Given the description of an element on the screen output the (x, y) to click on. 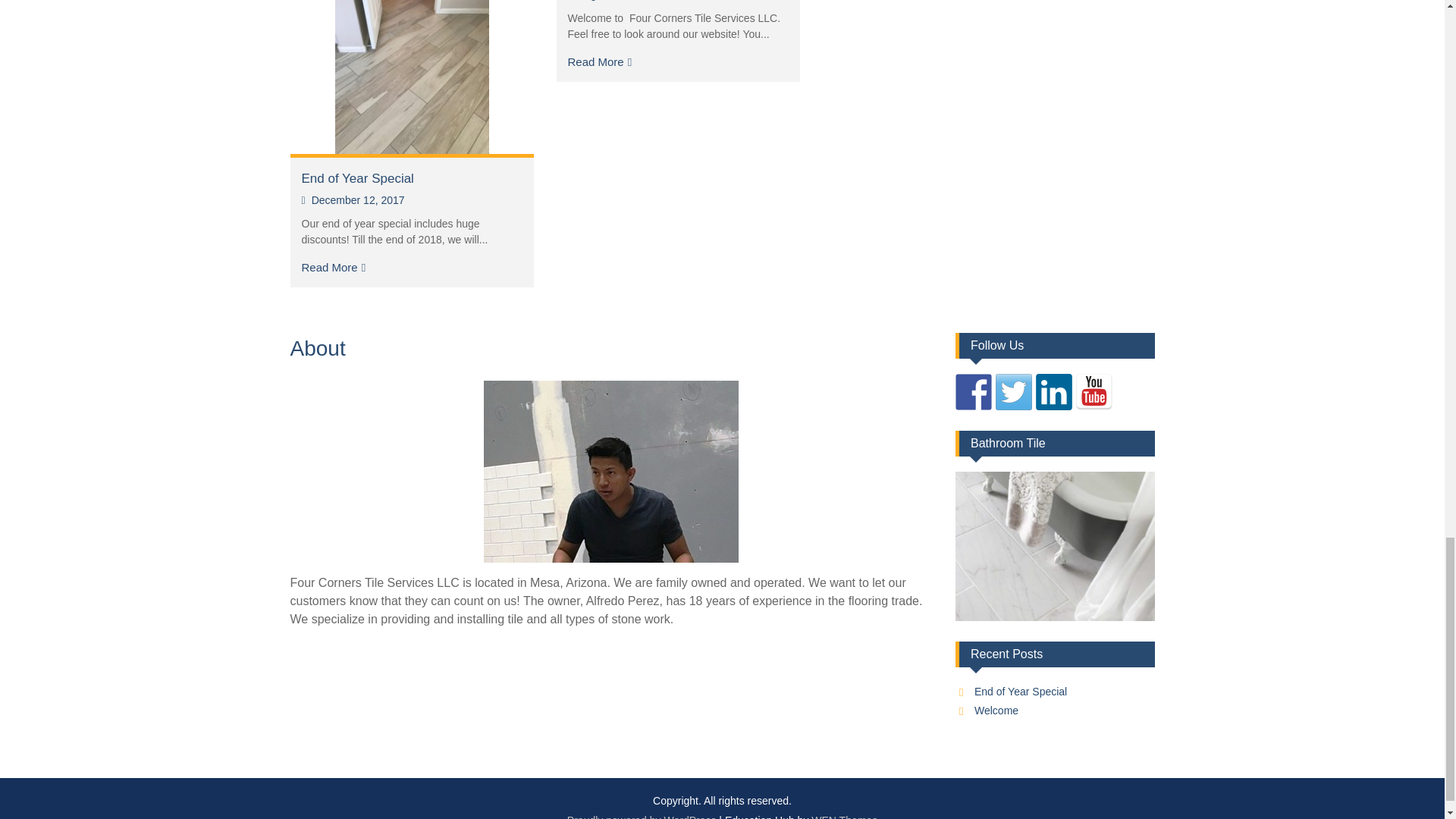
Follow us on Twitter (1013, 391)
Proudly powered by WordPress (641, 816)
December 12, 2017 (352, 200)
End of Year Special (1020, 691)
Find us on YouTube (1093, 391)
Read More (599, 61)
Find us on Linkedin (1053, 391)
End of Year Special (357, 178)
Welcome (995, 710)
Follow us on Facebook (973, 391)
Read More (333, 267)
